Given the description of an element on the screen output the (x, y) to click on. 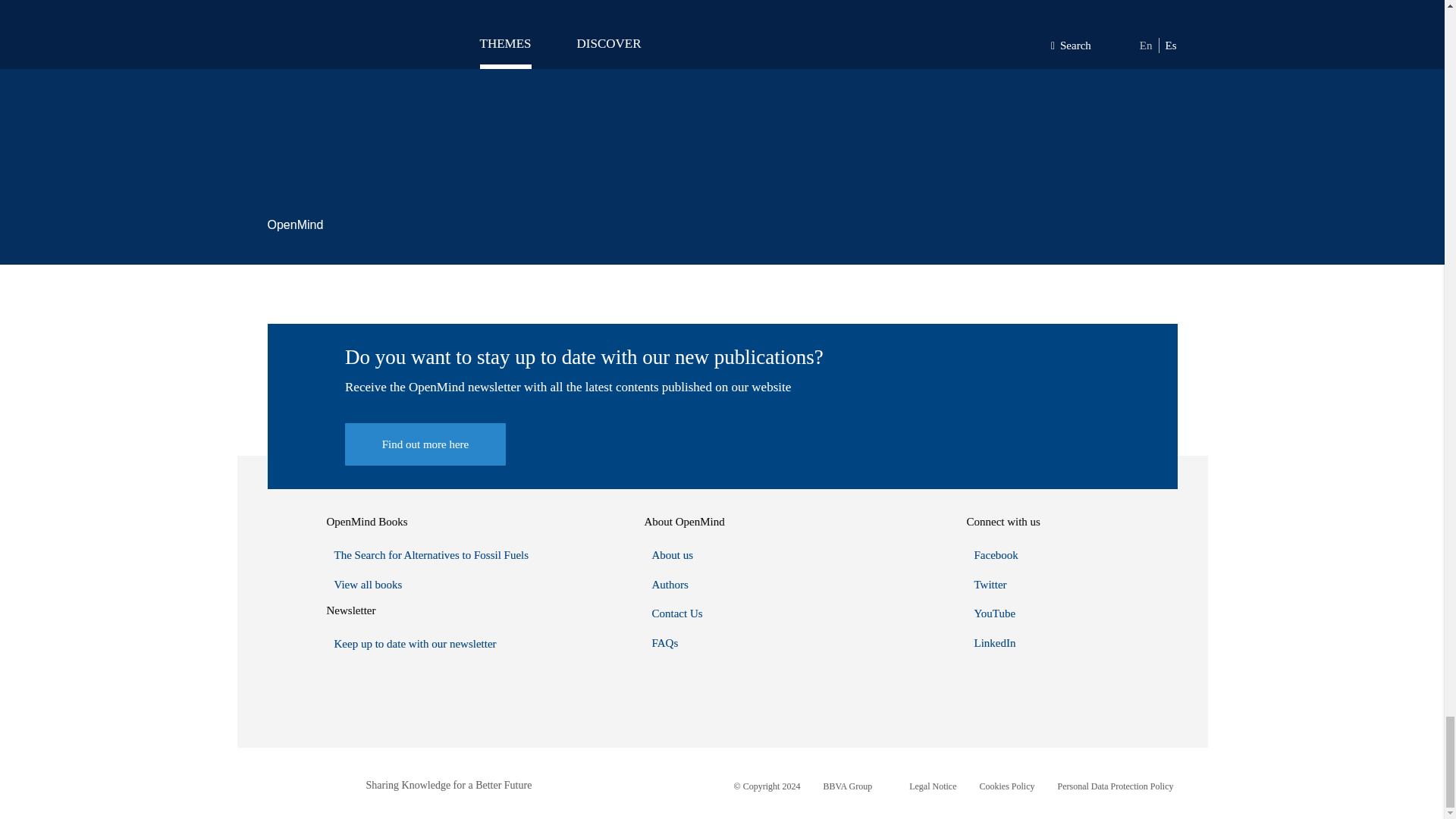
BBVA Group (847, 786)
Cookies Policy (1007, 786)
Personal Data Protection Policy (1115, 786)
Legal Notice (932, 786)
